Given the description of an element on the screen output the (x, y) to click on. 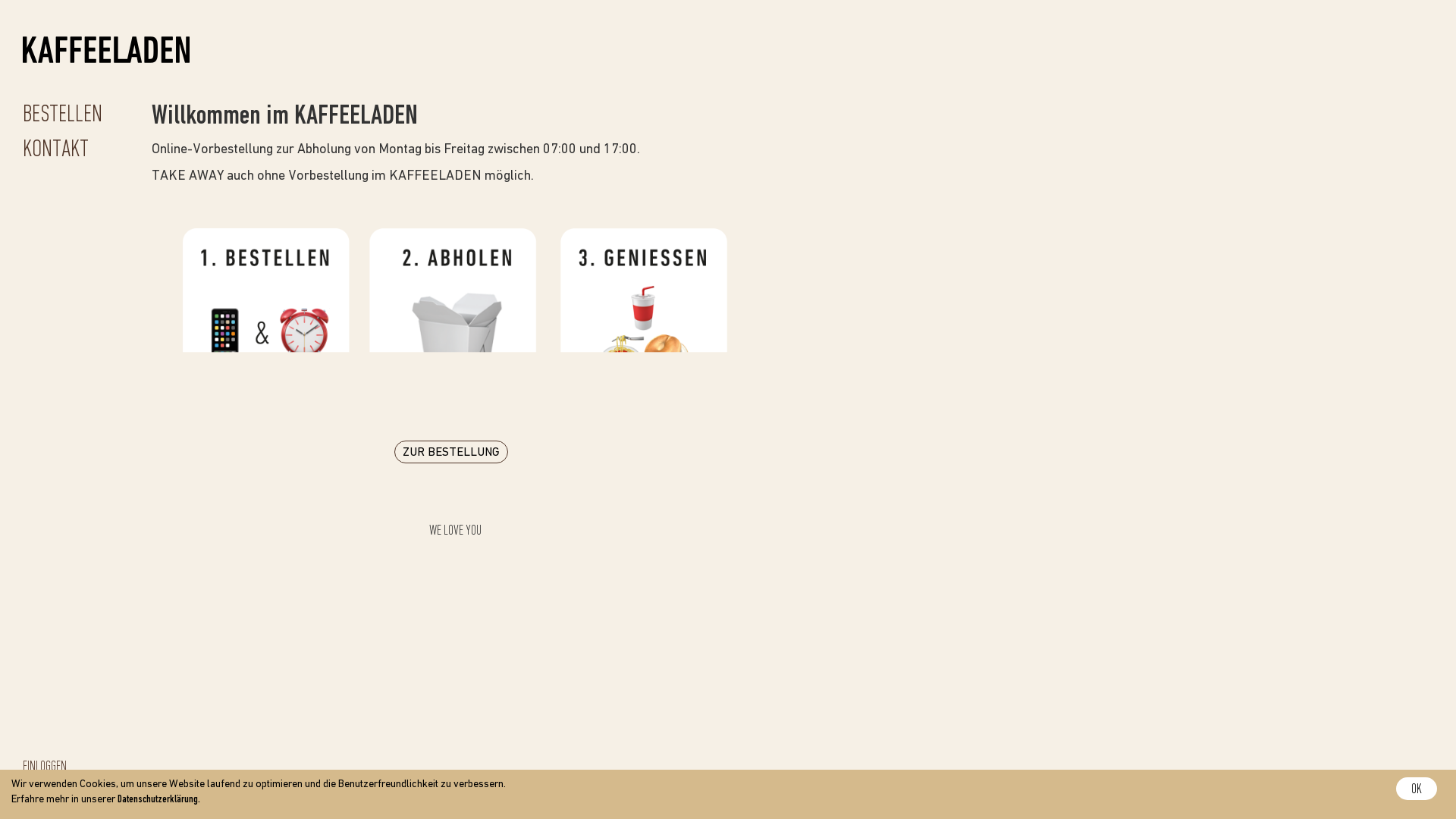
KAFFEELADEN Element type: text (105, 48)
+43 664 3445635 Element type: text (916, 803)
ZUR BESTELLUNG Element type: text (451, 451)
OK Element type: text (1416, 788)
KONTAKT Element type: text (55, 150)
office@kaffeeladen.cc Element type: text (814, 803)
EINLOGGEN Element type: text (44, 766)
BESTELLEN Element type: text (62, 115)
